Given the description of an element on the screen output the (x, y) to click on. 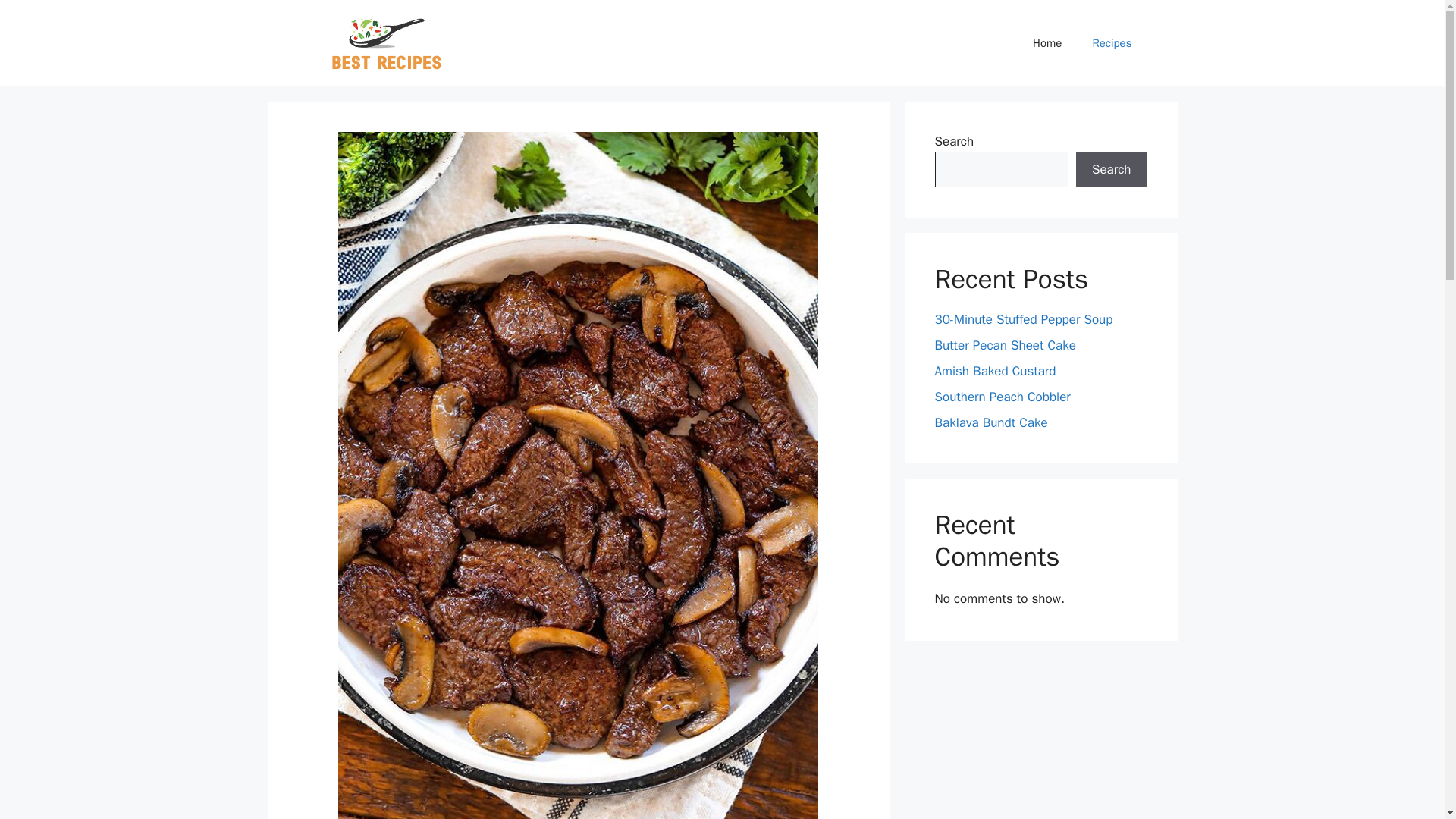
Amish Baked Custard (994, 371)
Baklava Bundt Cake (990, 422)
Home (1047, 43)
Search (1111, 169)
Recipes (1112, 43)
Butter Pecan Sheet Cake (1004, 344)
Southern Peach Cobbler (1002, 396)
30-Minute Stuffed Pepper Soup (1023, 319)
